Given the description of an element on the screen output the (x, y) to click on. 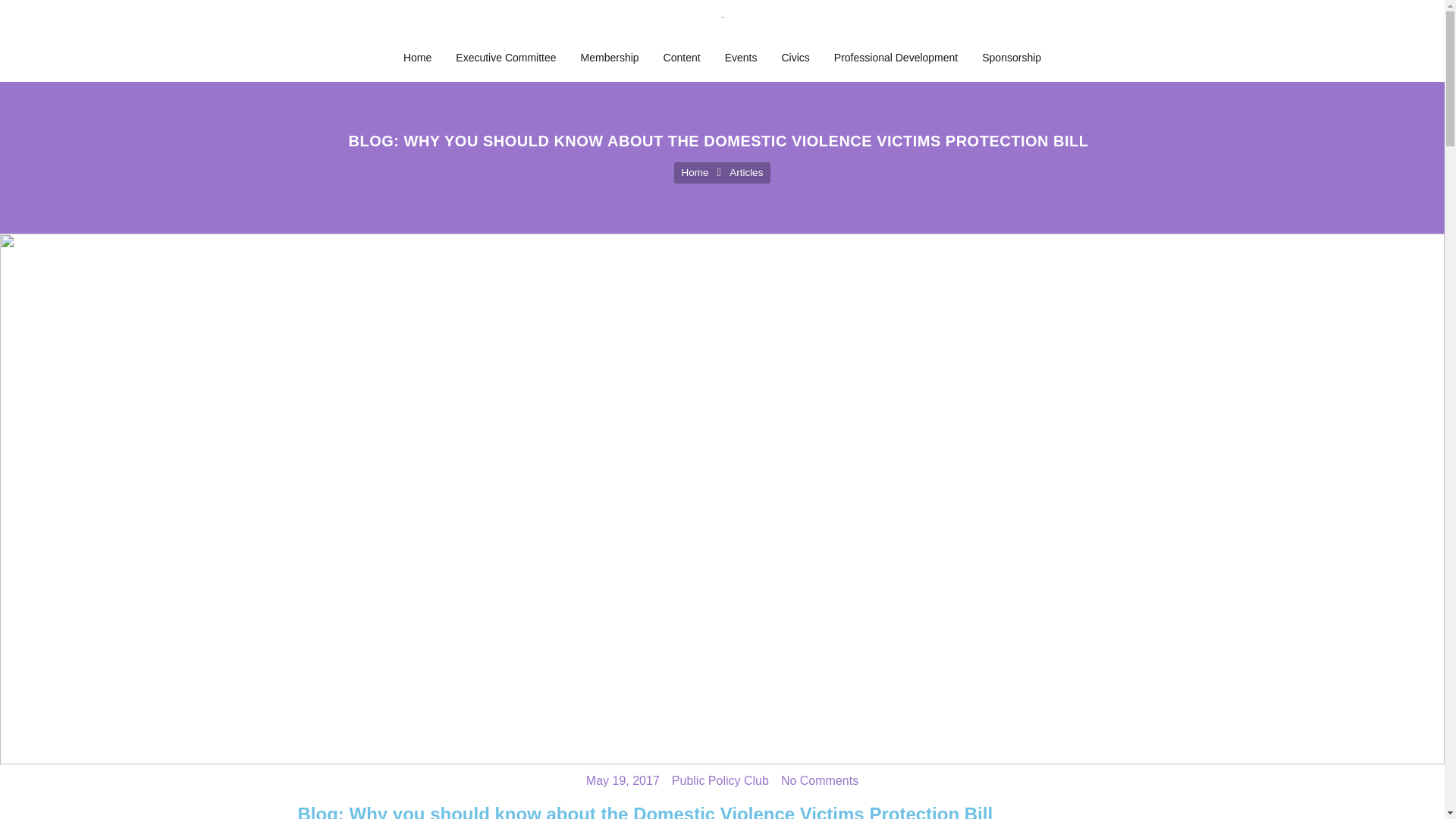
Sponsorship (1010, 57)
Civics (794, 57)
Executive Committee (505, 57)
Home (417, 57)
Professional Development (895, 57)
Content (681, 57)
Events (741, 57)
Membership (609, 57)
